Given the description of an element on the screen output the (x, y) to click on. 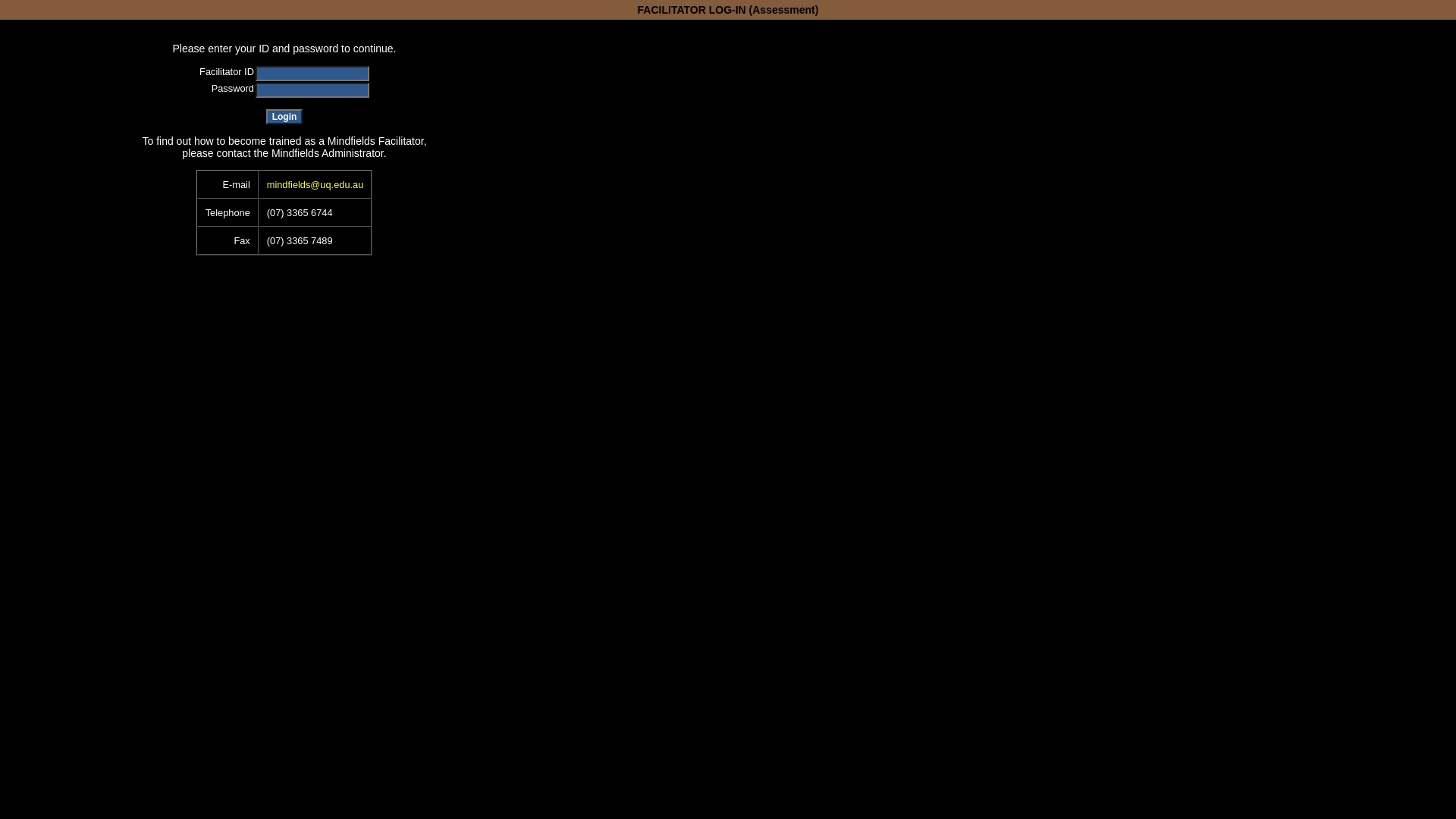
Login Element type: text (284, 116)
mindfields@uq.edu.au Element type: text (315, 184)
